Given the description of an element on the screen output the (x, y) to click on. 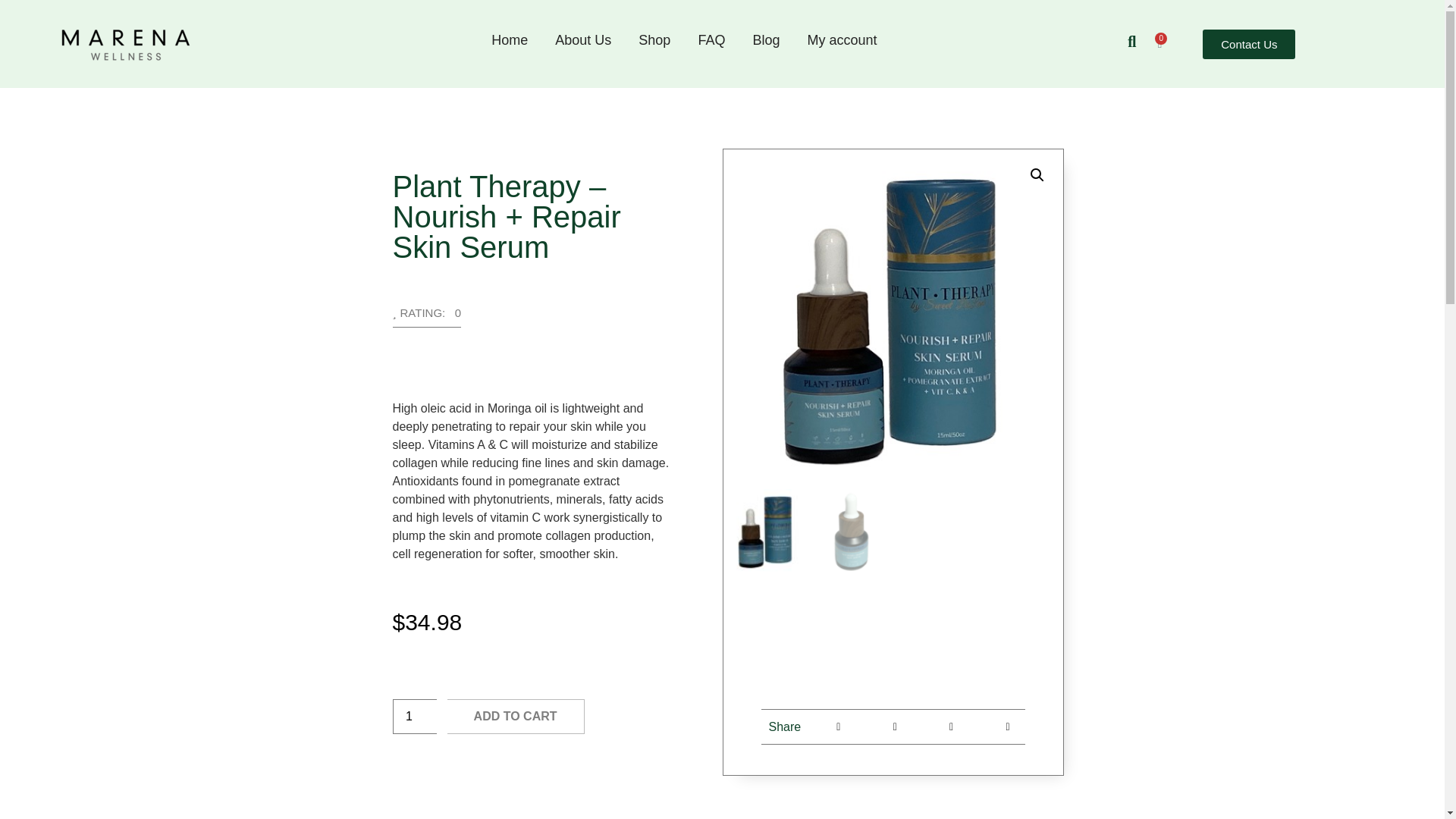
Blog (765, 39)
ADD TO CART (515, 716)
0 (1159, 43)
Nourish Repair2.PNG (892, 318)
Shop (654, 39)
Home (509, 39)
FAQ (711, 39)
1 (414, 716)
My account (841, 39)
RATING:   0 (427, 317)
